Given the description of an element on the screen output the (x, y) to click on. 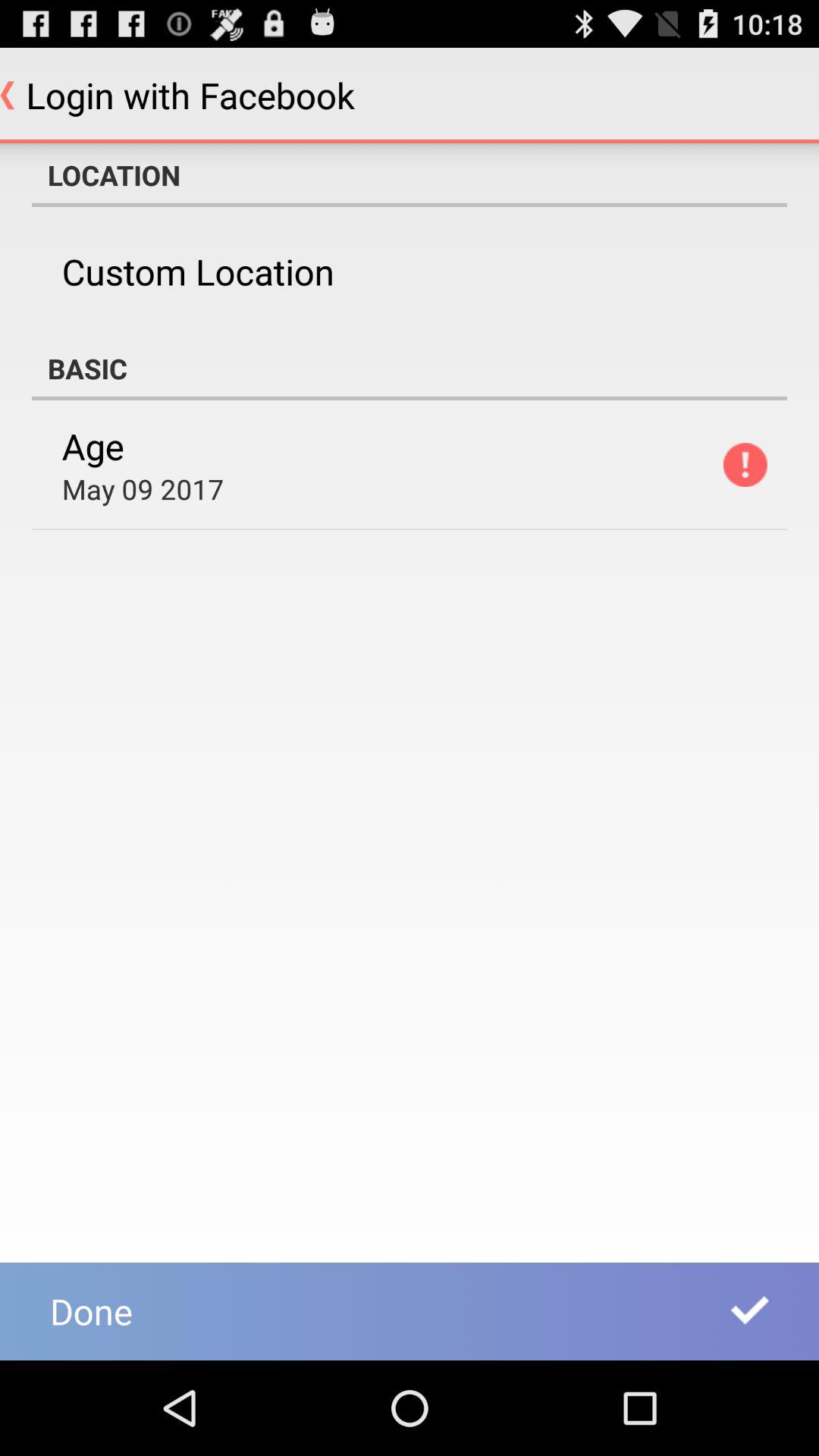
turn off the app below the basic item (92, 446)
